Given the description of an element on the screen output the (x, y) to click on. 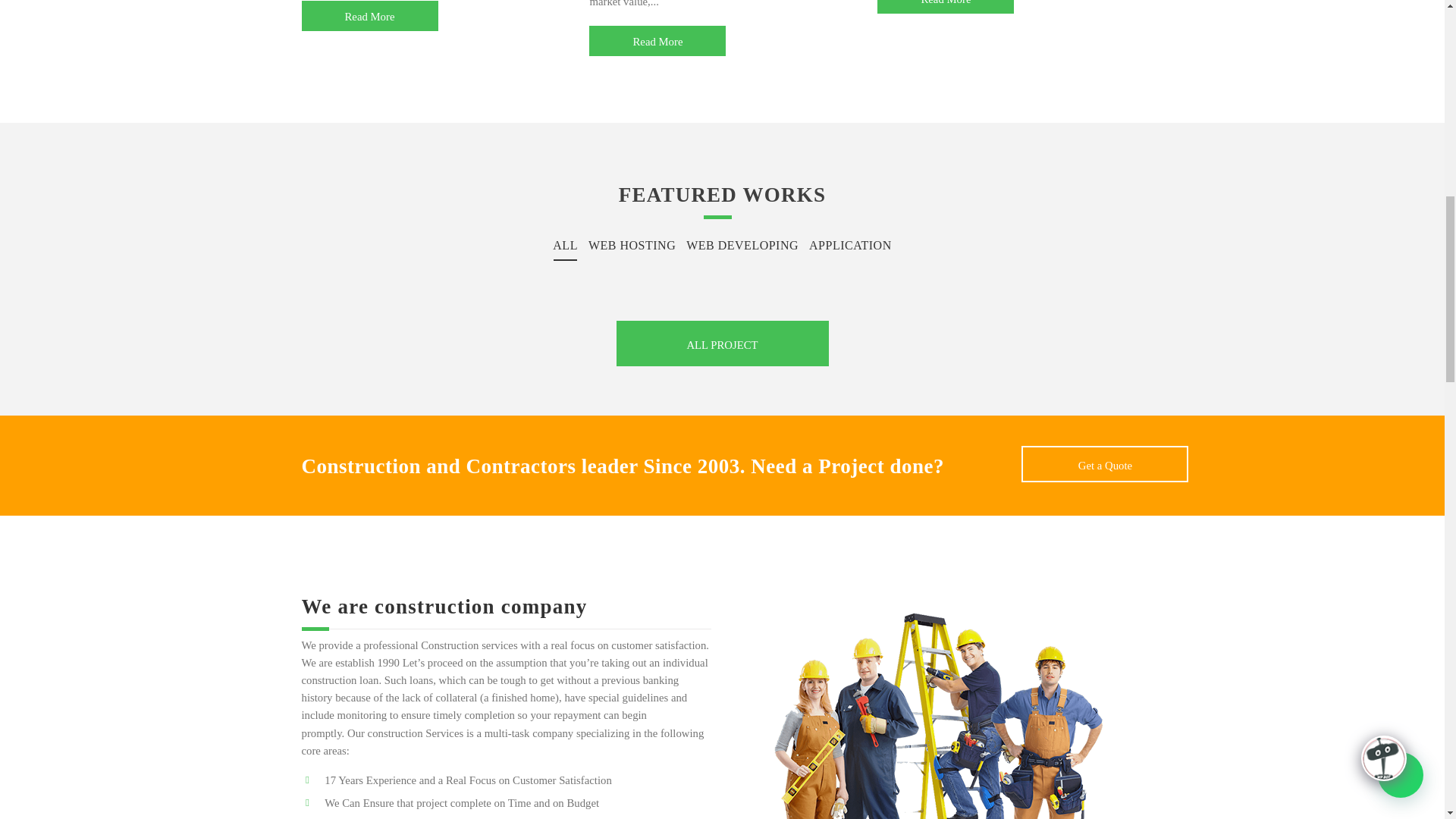
Read More (657, 40)
about4 (938, 699)
Get a Quote (1105, 463)
Restaurant Solution (369, 15)
Get a Quote (1105, 463)
APPLICATION (849, 246)
ALL PROJECT (721, 343)
Web Application Solution (657, 40)
ALL PROJECT (721, 343)
Read More (369, 15)
WEB DEVELOPING (742, 246)
Read More (945, 6)
WEB HOSTING (632, 246)
IT Support Solution (945, 6)
